Given the description of an element on the screen output the (x, y) to click on. 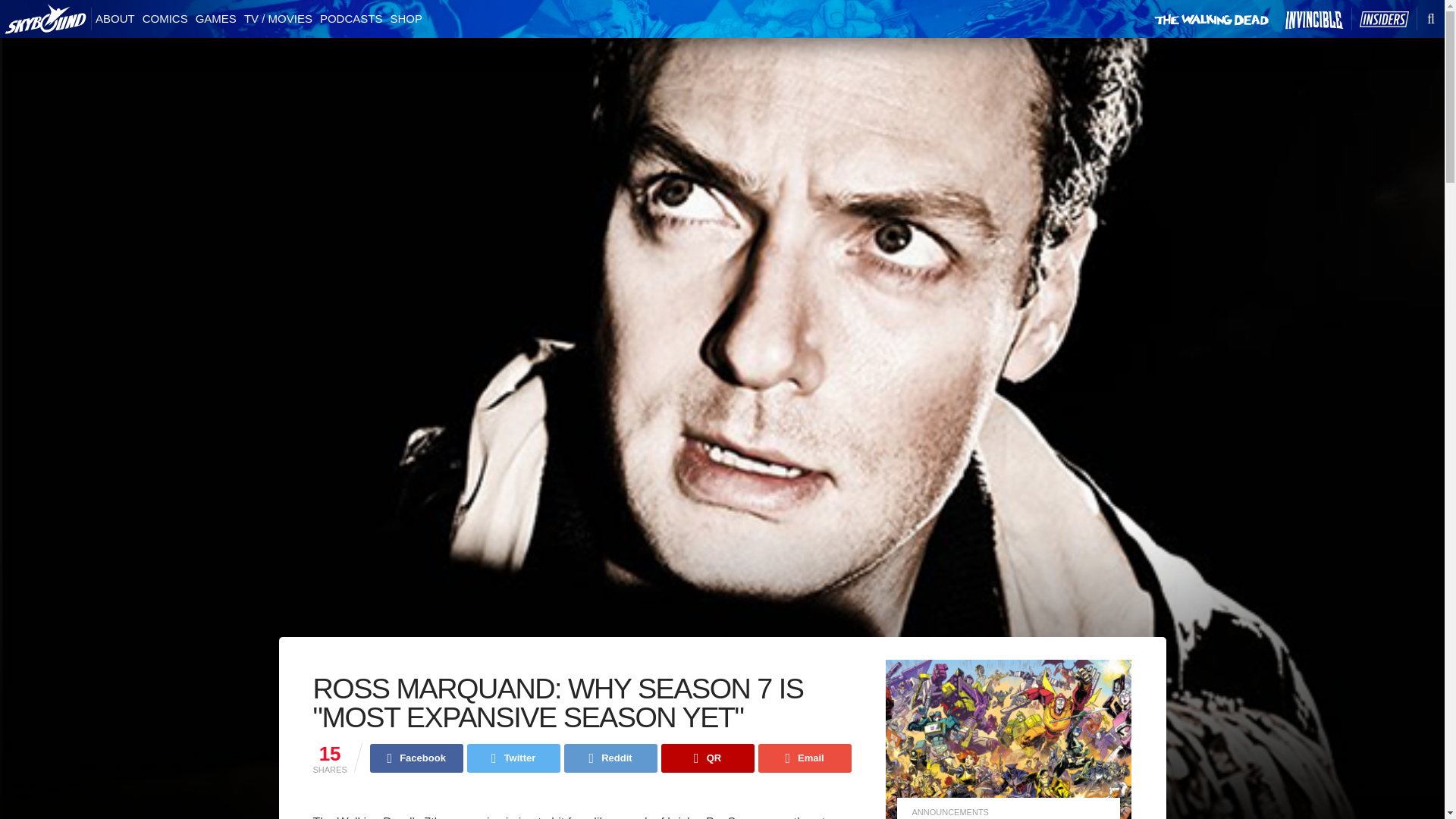
GAMES (215, 19)
Email (804, 758)
PODCASTS (351, 19)
Twitter (513, 758)
ABOUT (115, 19)
QR (707, 758)
SHOP (406, 19)
Facebook (416, 758)
COMICS (164, 19)
Reddit (611, 758)
ANNOUNCEMENTS (949, 812)
